Given the description of an element on the screen output the (x, y) to click on. 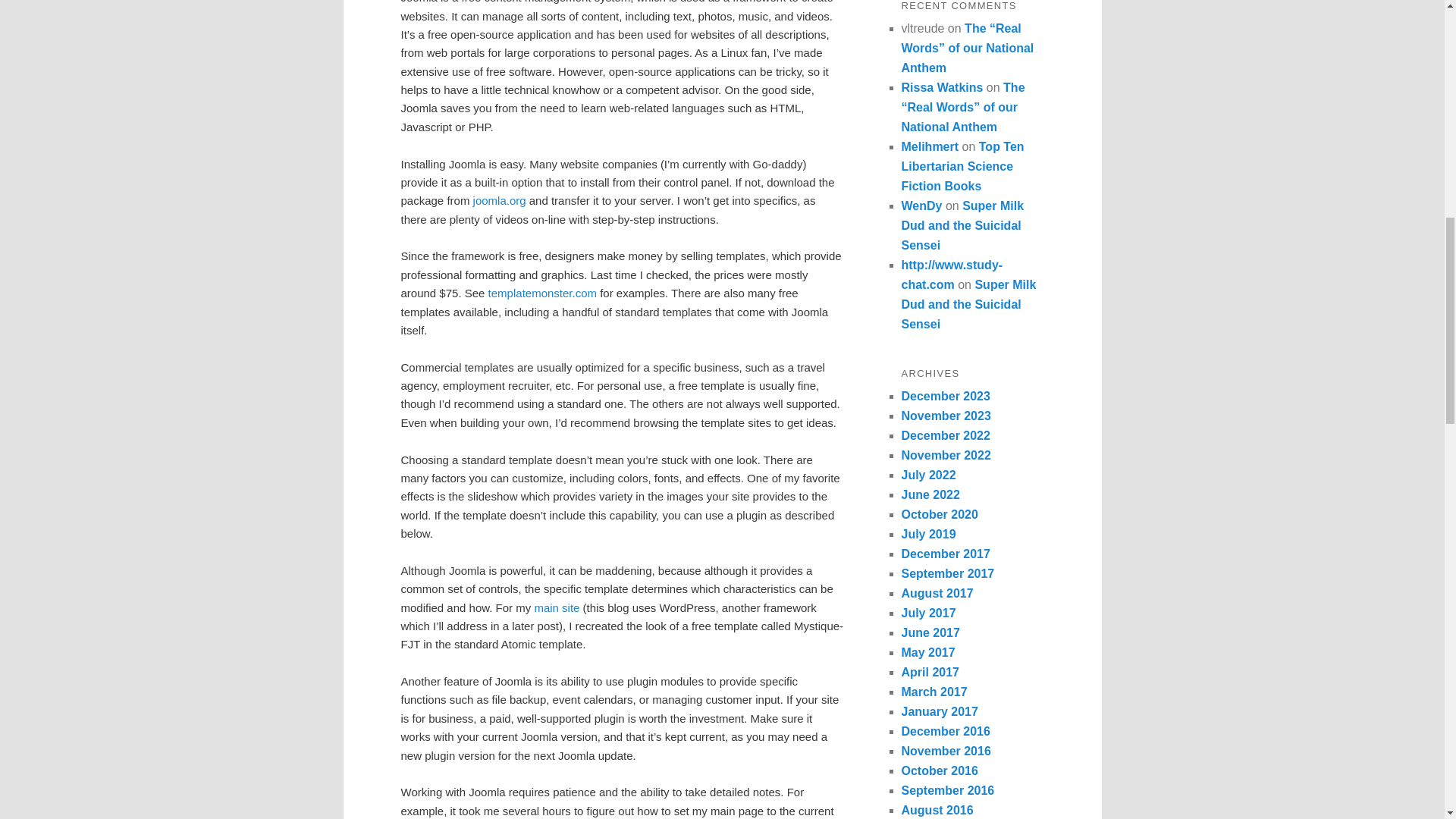
templatemonster.com (540, 292)
WenDy (921, 205)
Melihmert (929, 146)
Super Milk Dud and the Suicidal Sensei (968, 304)
Top Ten Libertarian Science Fiction Books (962, 166)
Super Milk Dud and the Suicidal Sensei (962, 225)
joomla.org (496, 200)
main site (556, 606)
December 2023 (945, 395)
Rissa Watkins (941, 87)
